Given the description of an element on the screen output the (x, y) to click on. 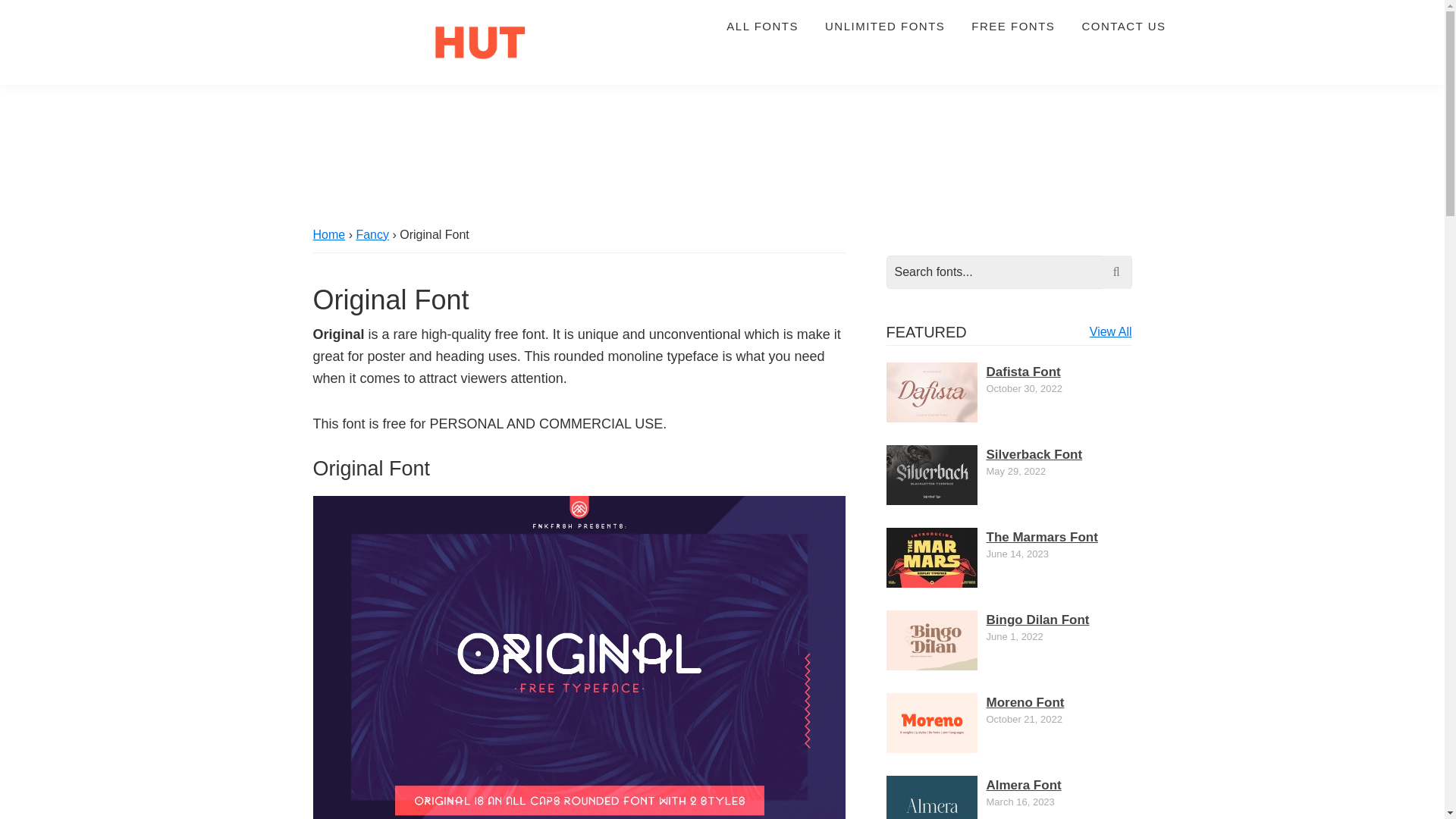
CONTACT US (1123, 25)
UNLIMITED FONTS (884, 25)
View All (1110, 331)
ALL FONTS (761, 25)
Fancy (371, 234)
FREE FONTS (1012, 25)
Home (329, 234)
